Given the description of an element on the screen output the (x, y) to click on. 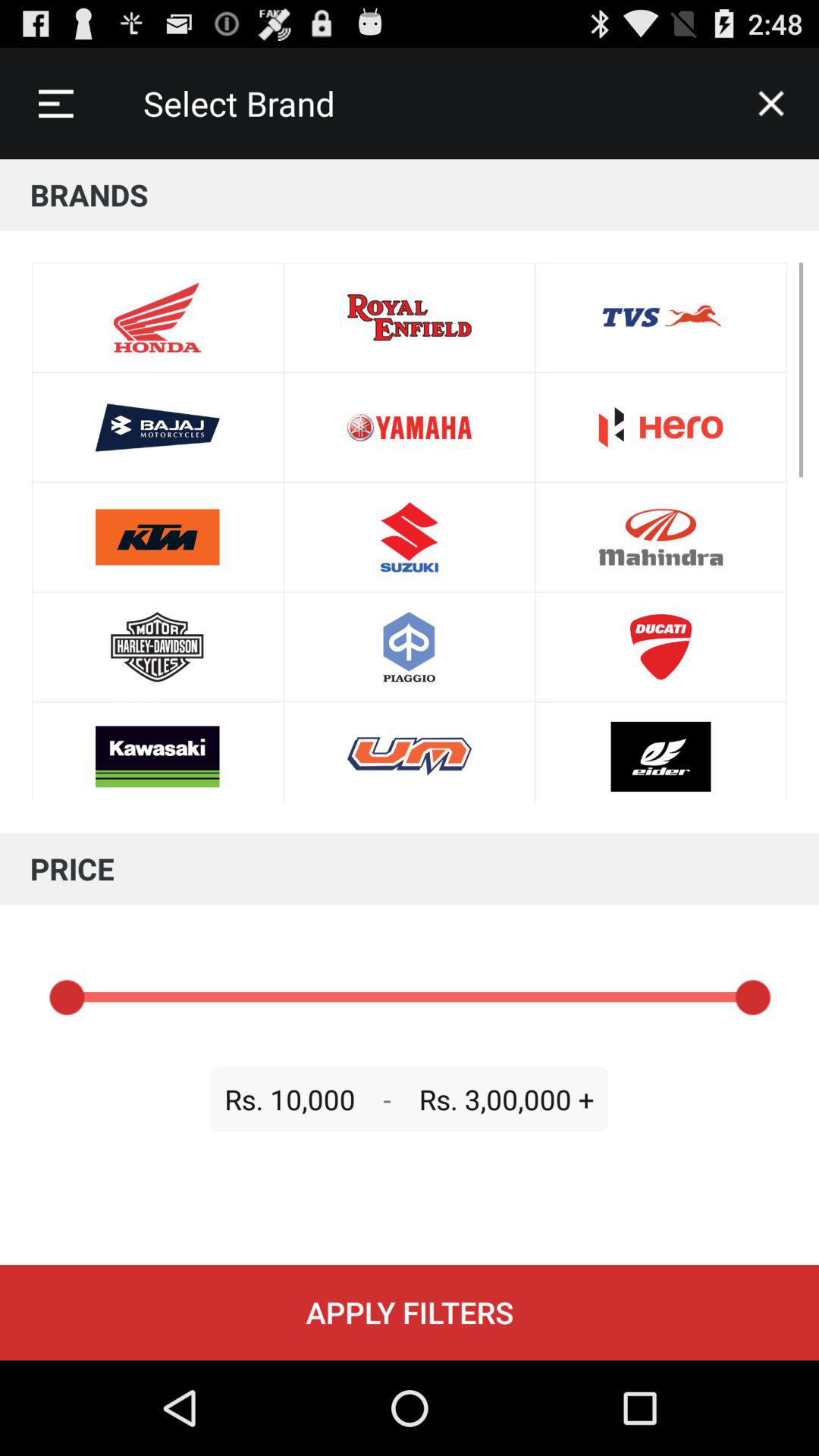
select the item above brands (771, 103)
